Given the description of an element on the screen output the (x, y) to click on. 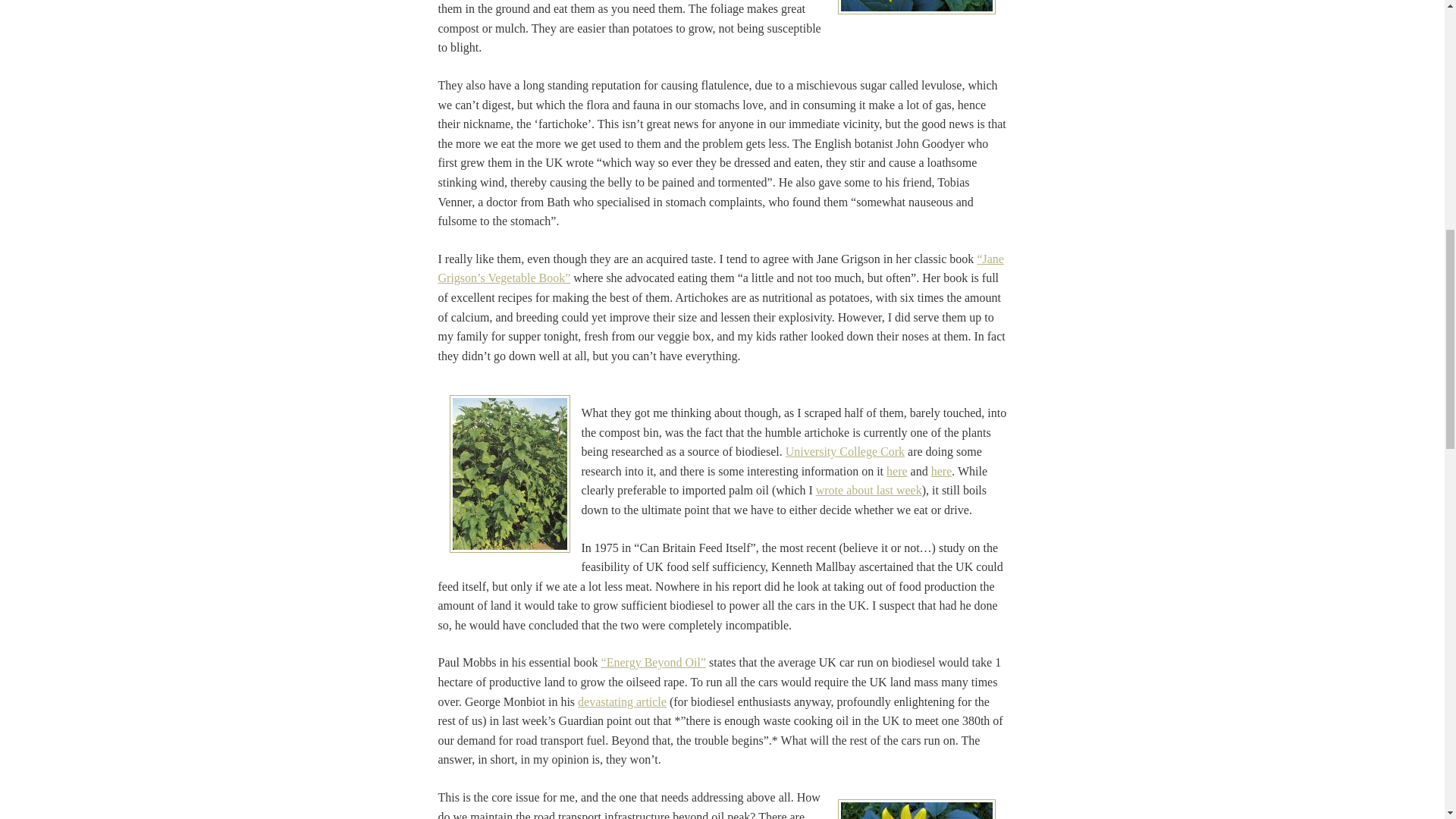
Arti2 (915, 7)
Grigson (721, 268)
here (941, 471)
here (896, 471)
UCC (845, 451)
devastating article (622, 701)
University College Cork (845, 451)
wrote about last week (868, 490)
